Given the description of an element on the screen output the (x, y) to click on. 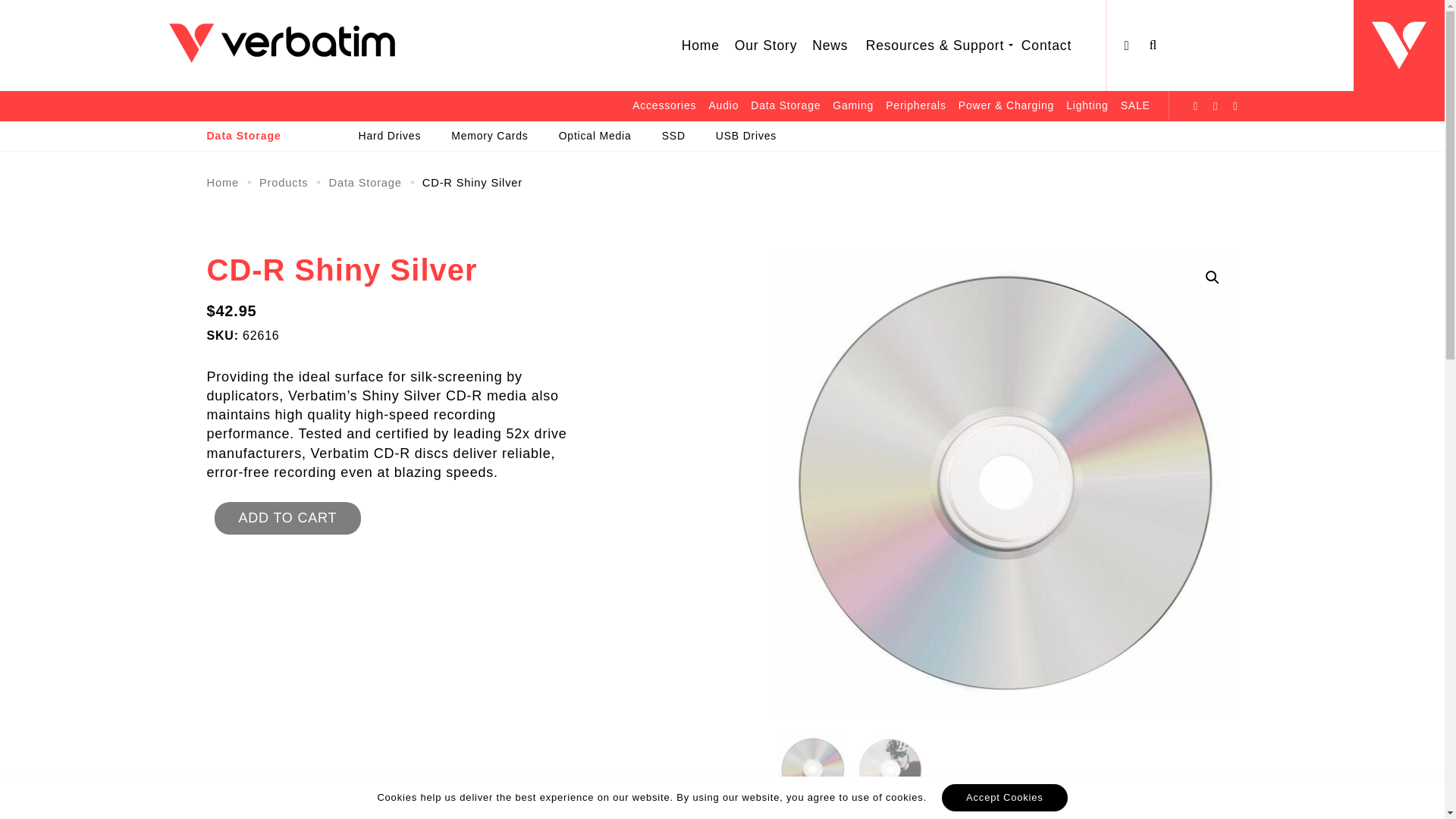
Home (700, 45)
Accessories (663, 105)
Contact (1045, 45)
Contact (1045, 45)
Our Story (765, 45)
Accessories (663, 105)
Audio (722, 105)
News (829, 45)
News (829, 45)
Our Story (765, 45)
